Given the description of an element on the screen output the (x, y) to click on. 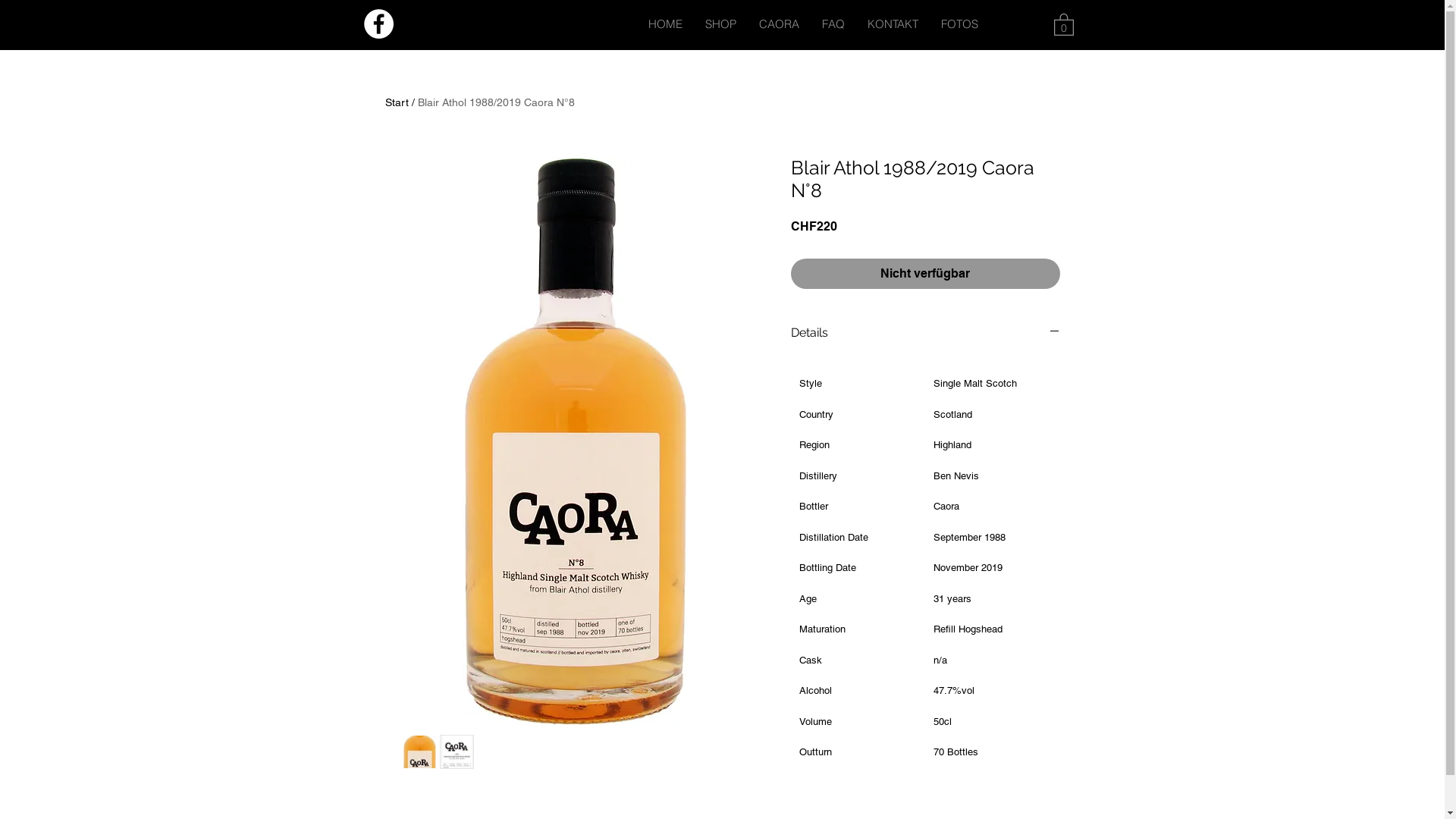
CAORA Element type: text (778, 23)
FAQ Element type: text (832, 23)
SHOP Element type: text (719, 23)
KONTAKT Element type: text (891, 23)
0 Element type: text (1063, 23)
FOTOS Element type: text (959, 23)
Details Element type: text (924, 332)
HOME Element type: text (665, 23)
Start Element type: text (396, 102)
